Given the description of an element on the screen output the (x, y) to click on. 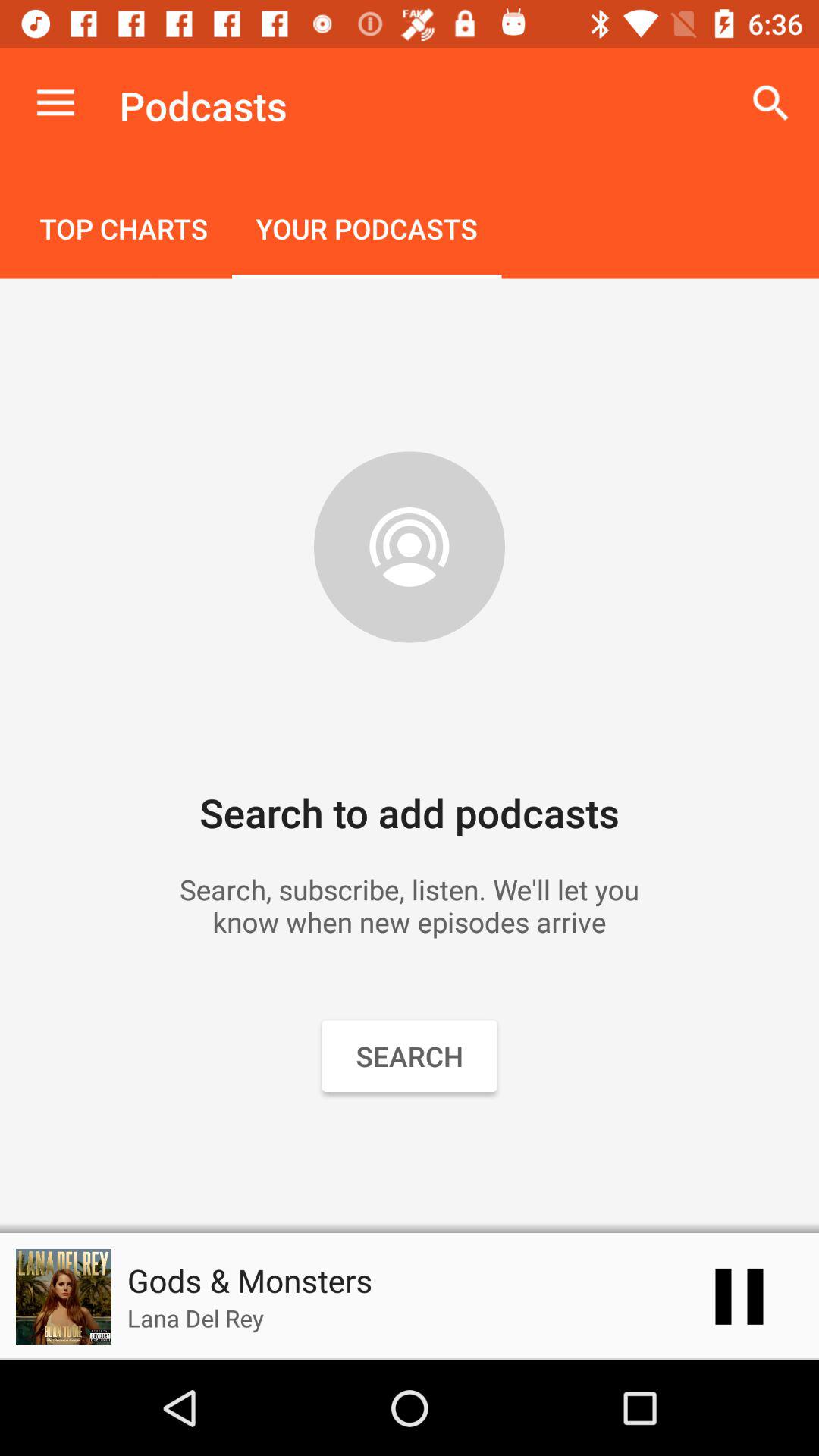
select the item at the bottom right corner (739, 1296)
